Given the description of an element on the screen output the (x, y) to click on. 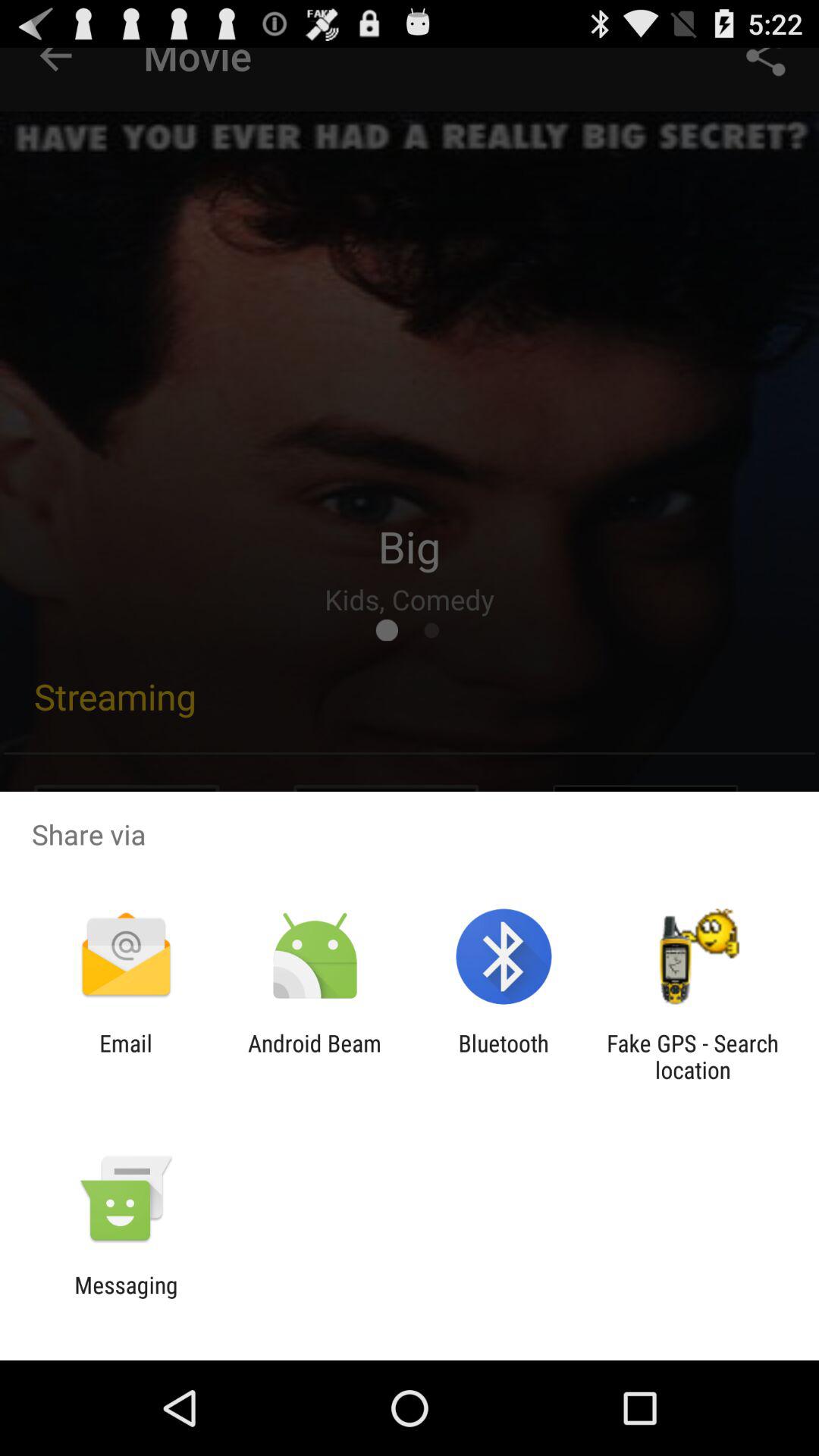
tap the bluetooth app (503, 1056)
